Given the description of an element on the screen output the (x, y) to click on. 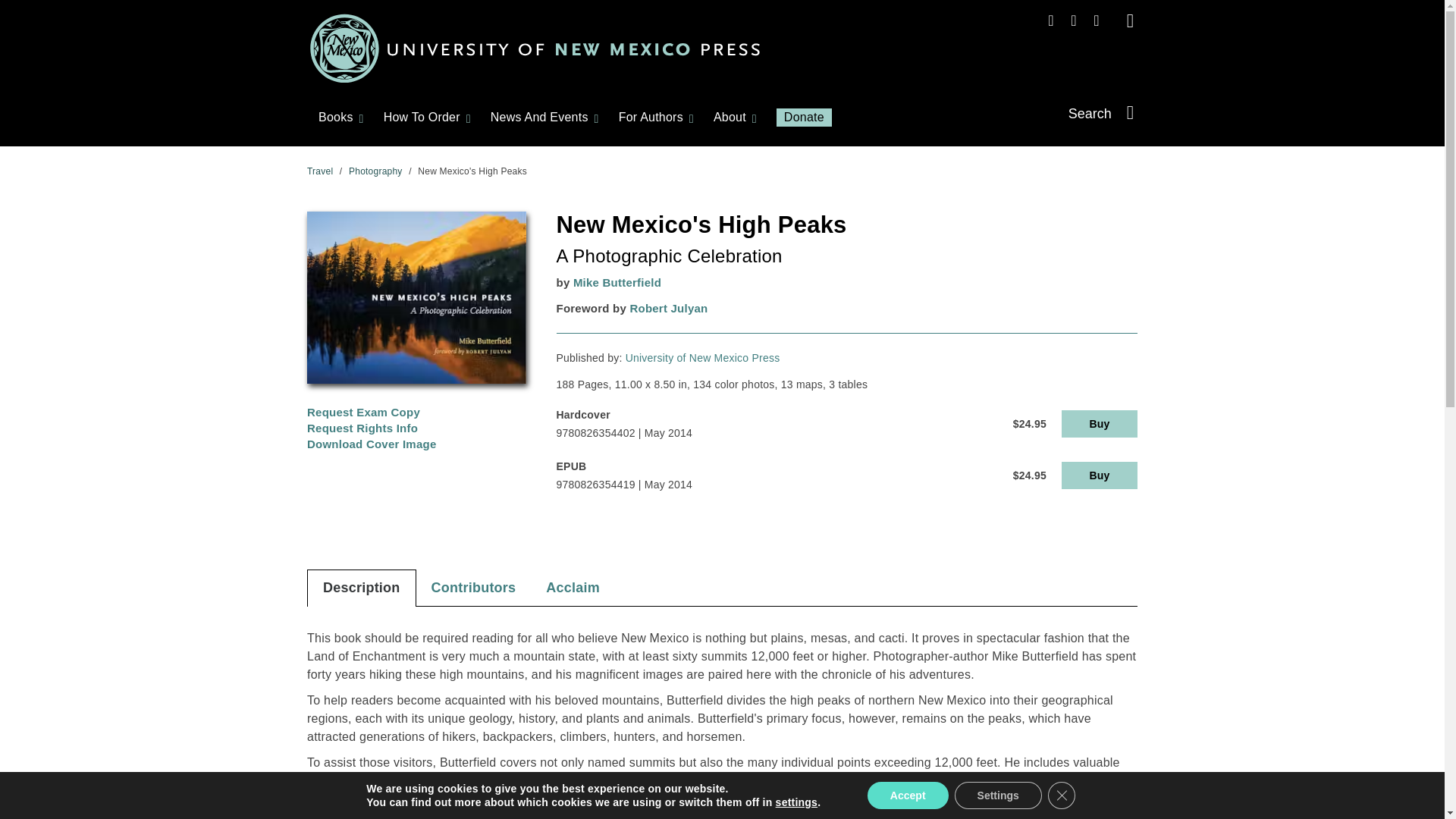
Follow us on Instagram (1073, 20)
Books (335, 117)
How To Order (422, 117)
eBook (1099, 474)
View results for travel (320, 171)
Follow us on LinkedIn (1096, 20)
Follow us on Facebook (1051, 20)
Hardcover (1099, 423)
About (729, 117)
For Authors (650, 117)
View results for photography (376, 171)
News And Events (539, 117)
